Given the description of an element on the screen output the (x, y) to click on. 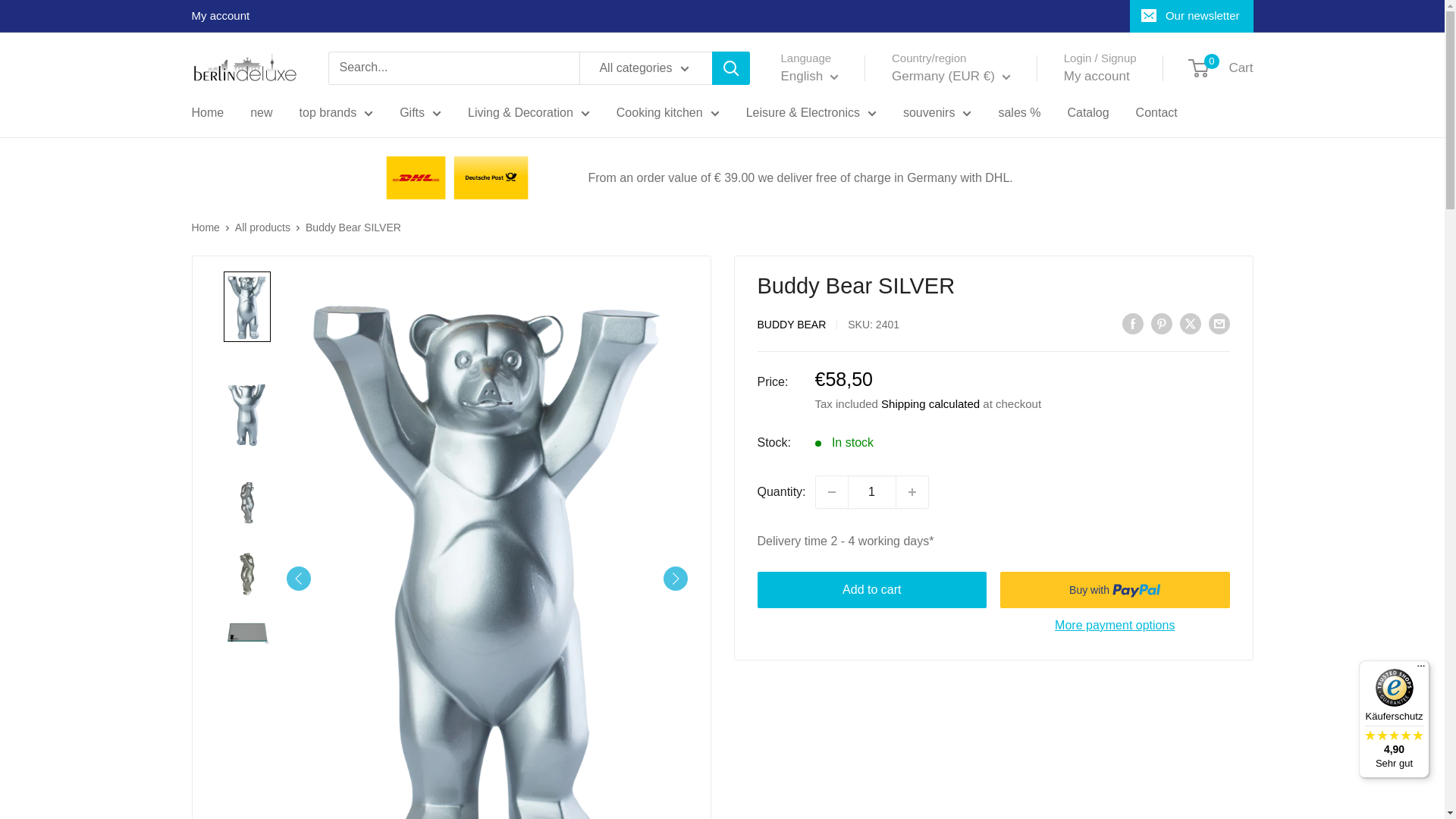
Our newsletter (1191, 15)
My account (219, 15)
Increase quantity by 1 (912, 491)
Decrease quantity by 1 (831, 491)
1 (871, 491)
